Given the description of an element on the screen output the (x, y) to click on. 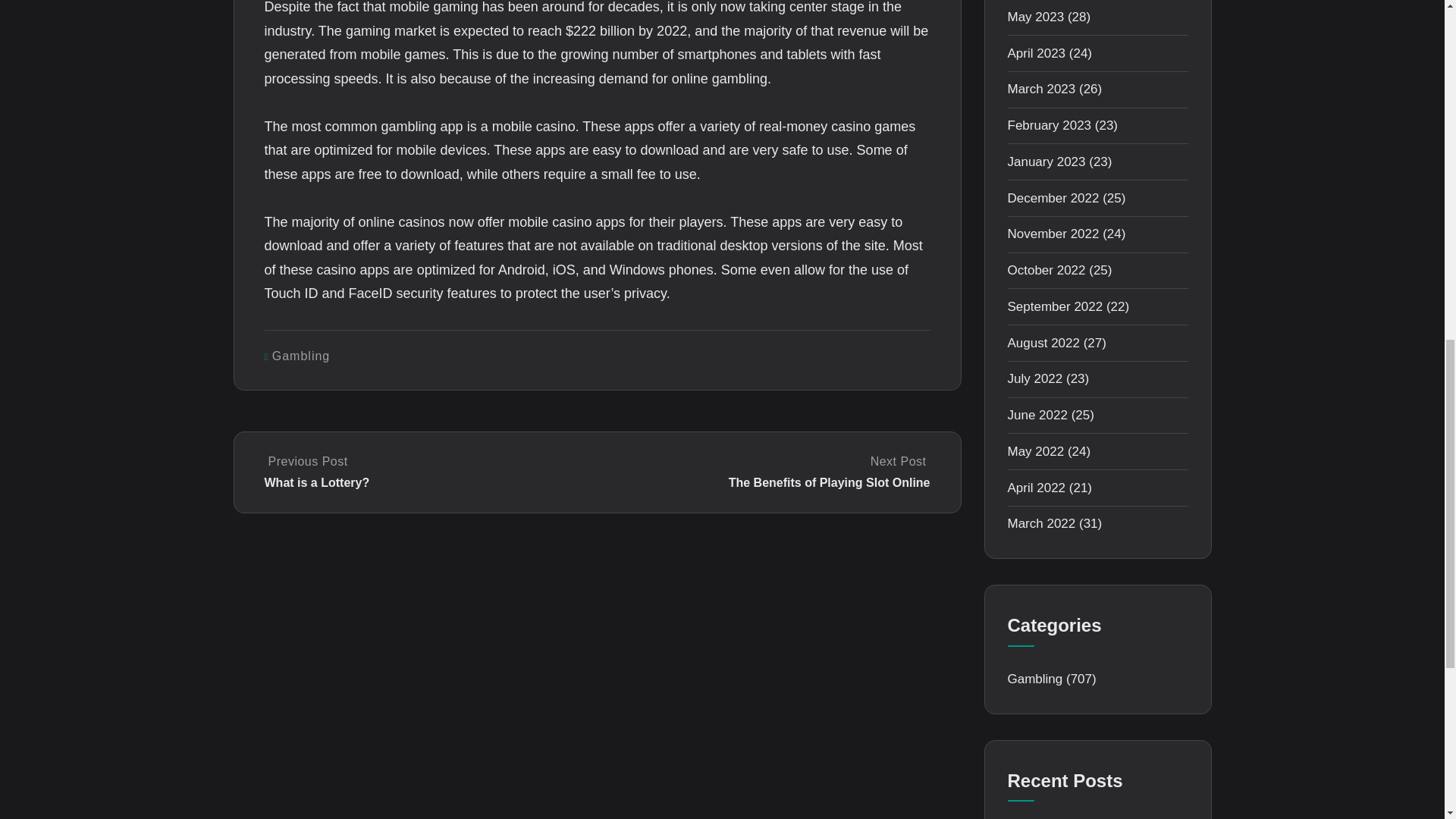
March 2023 (1041, 88)
Gambling (301, 355)
January 2023 (1045, 161)
August 2022 (1042, 342)
November 2022 (1053, 233)
October 2022 (1045, 269)
April 2023 (1036, 52)
February 2023 (1048, 124)
May 2023 (1035, 16)
December 2022 (1053, 197)
July 2022 (1034, 378)
September 2022 (1054, 306)
